Given the description of an element on the screen output the (x, y) to click on. 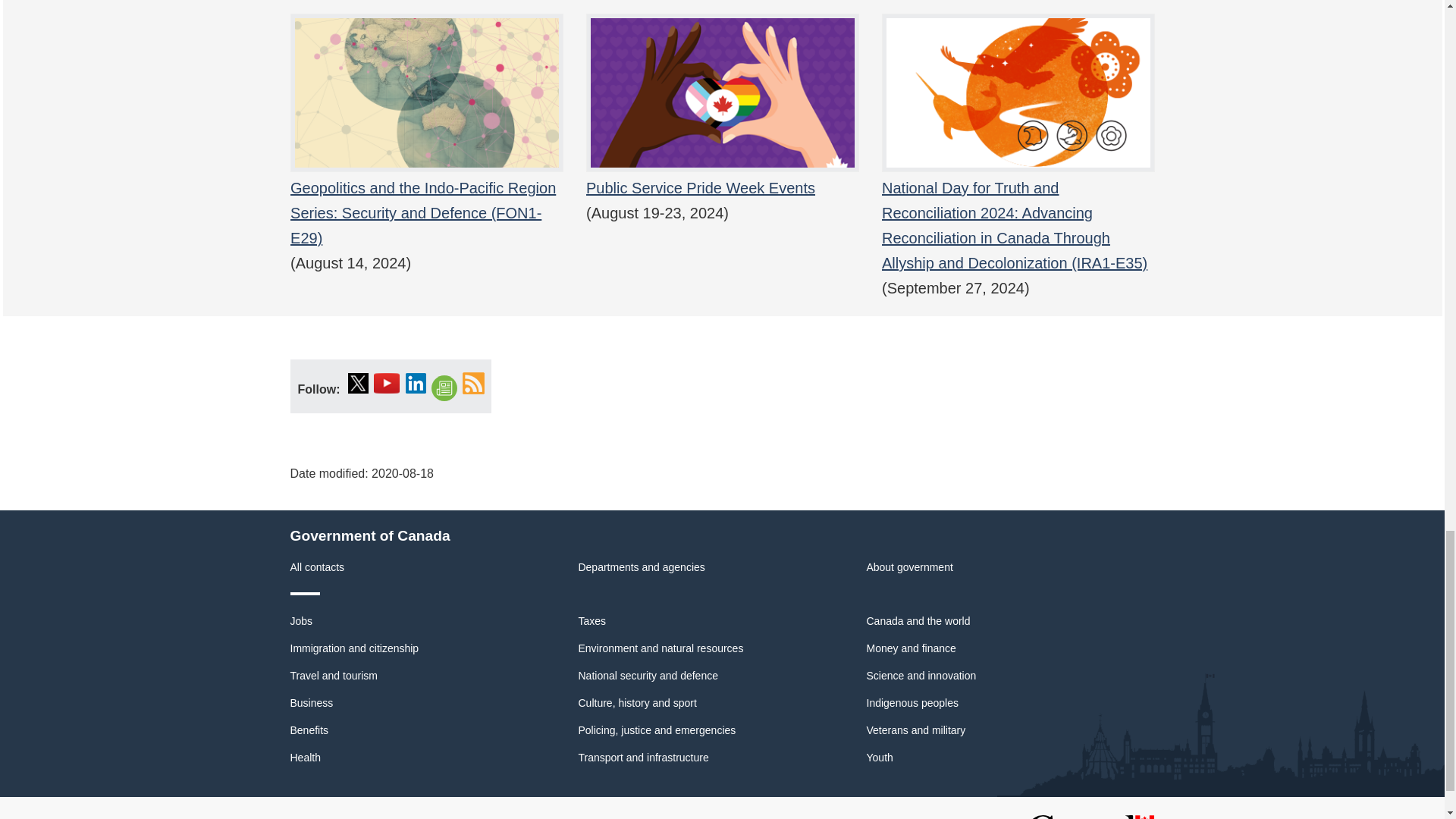
RSS (472, 382)
Twitter (357, 382)
Twitter (357, 382)
RSS (472, 382)
GCLearning newsletter (443, 388)
GCLearning newsletter (443, 388)
YouTube (386, 382)
LinkedIn (415, 382)
YouTube (386, 382)
LinkedIn (415, 382)
All contacts (316, 567)
Public Service Pride Week Events (722, 117)
